Given the description of an element on the screen output the (x, y) to click on. 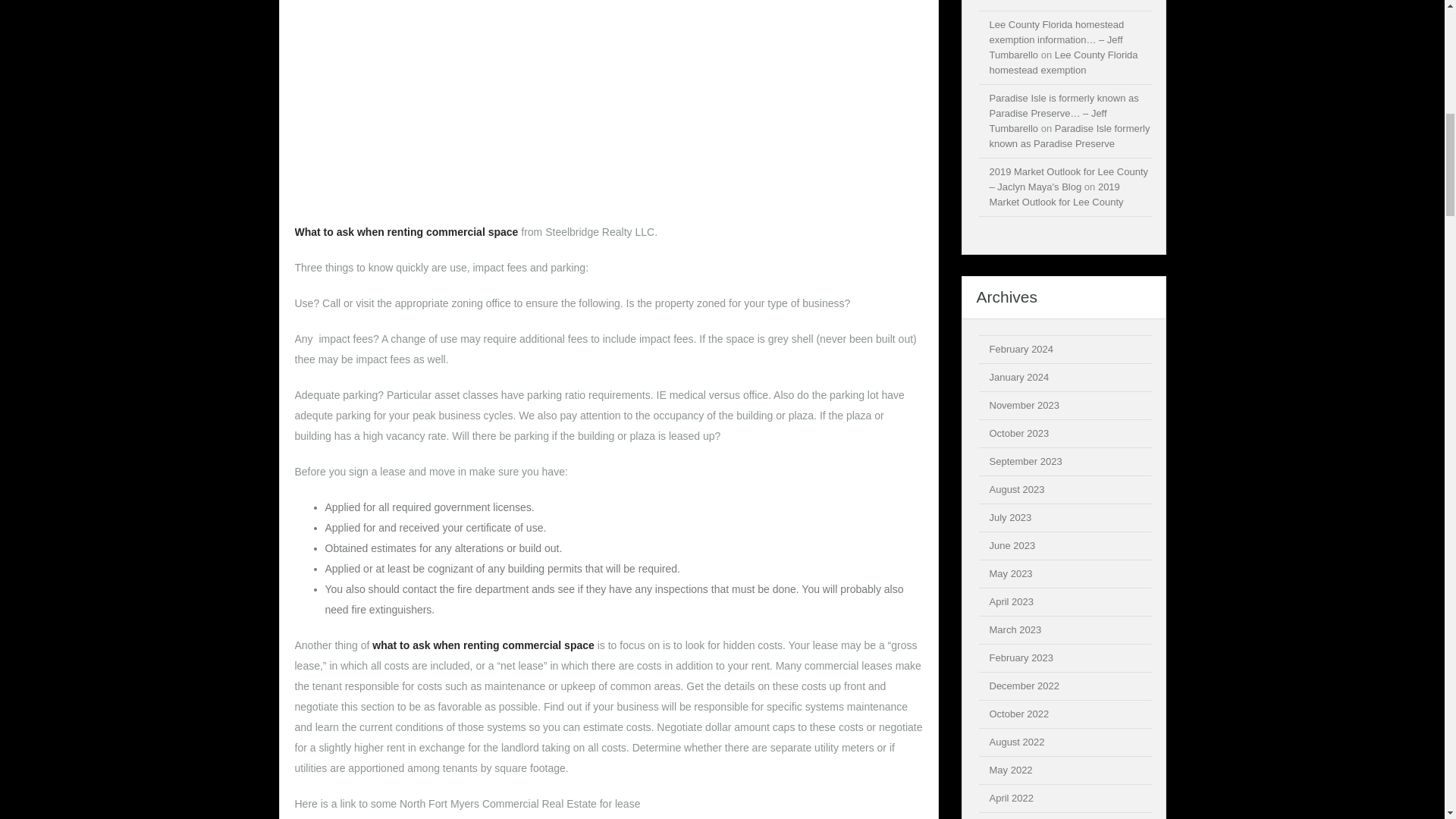
Lee County Florida homestead exemption (1062, 62)
Riverbend Golf and Country Club North Fort Myers for sale (1063, 1)
October 2023 (1018, 432)
November 2023 (1023, 405)
commercial leases (850, 665)
Paradise Isle formerly known as Paradise Preserve (1069, 135)
February 2024 (1020, 348)
January 2024 (1018, 377)
2019 Market Outlook for Lee County (1055, 194)
